Given the description of an element on the screen output the (x, y) to click on. 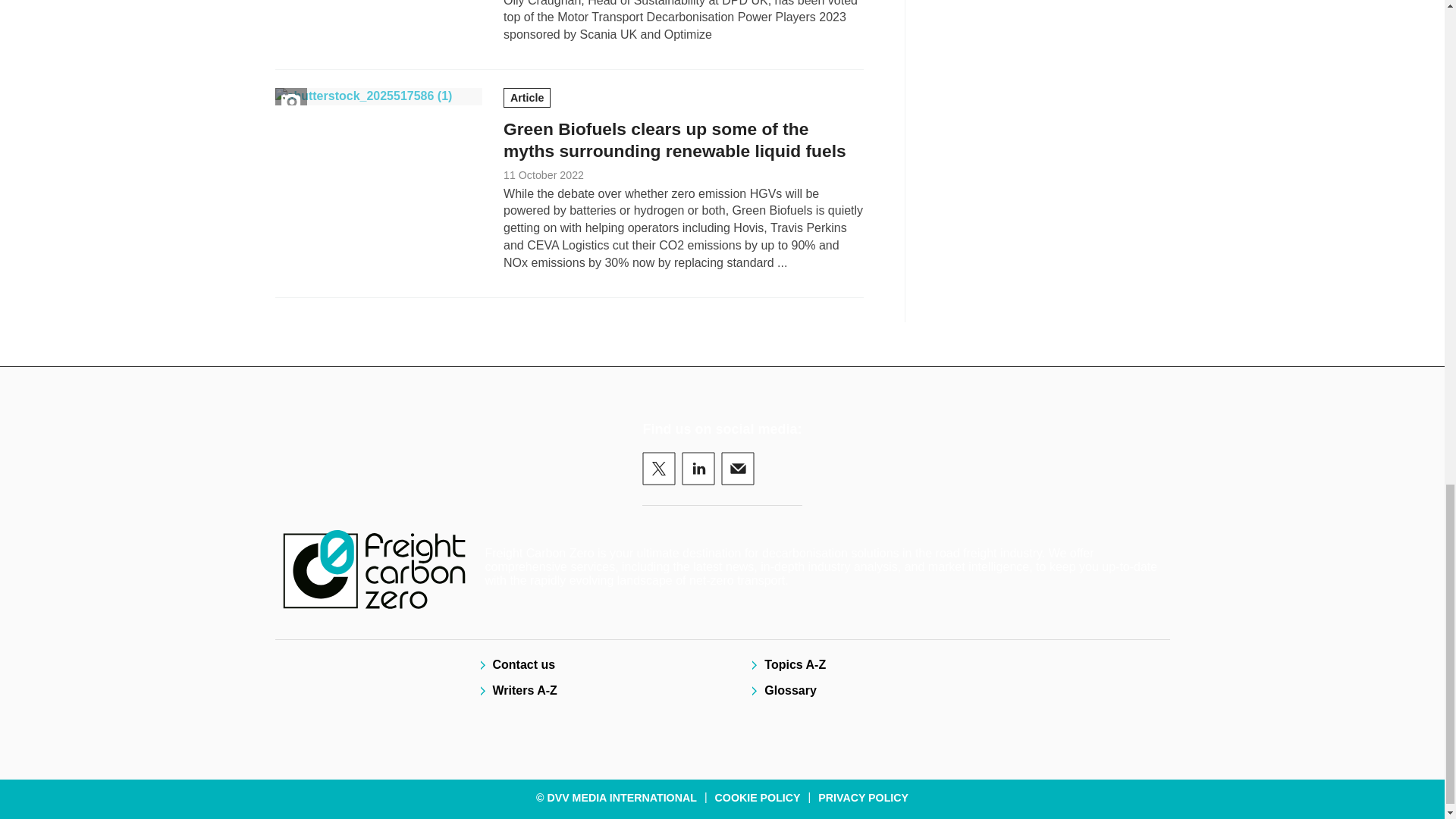
Email us (737, 468)
Connect with us on Linked In (697, 468)
Connect with us on Twitter (658, 468)
